Given the description of an element on the screen output the (x, y) to click on. 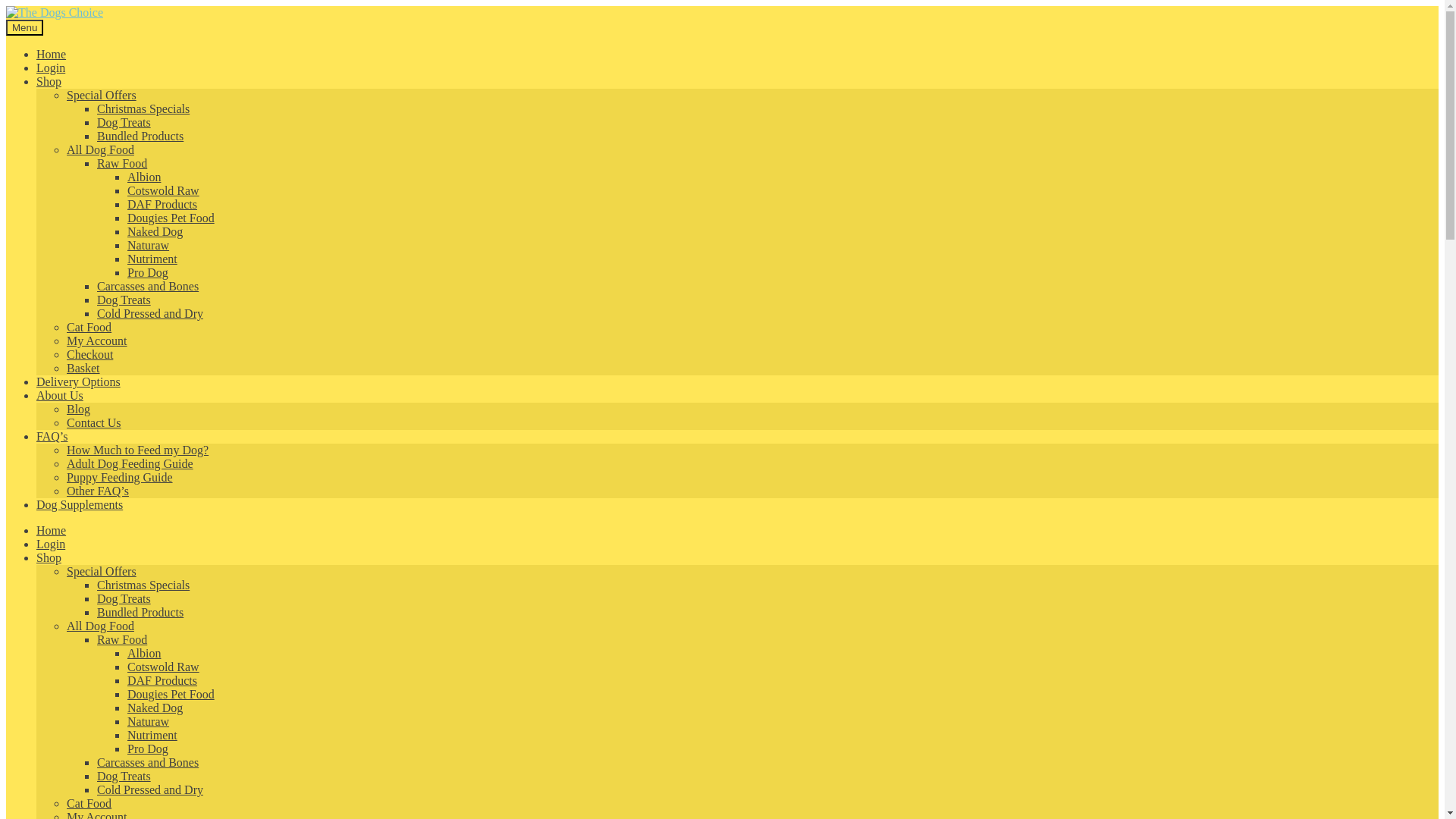
Home (50, 530)
Special Offers (101, 94)
Special Offers (101, 571)
Naturaw (148, 245)
Dog Treats (124, 299)
Login (50, 67)
Adult Dog Feeding Guide (129, 463)
Checkout (89, 354)
Dog Supplements (79, 504)
Naked Dog (155, 231)
